Given the description of an element on the screen output the (x, y) to click on. 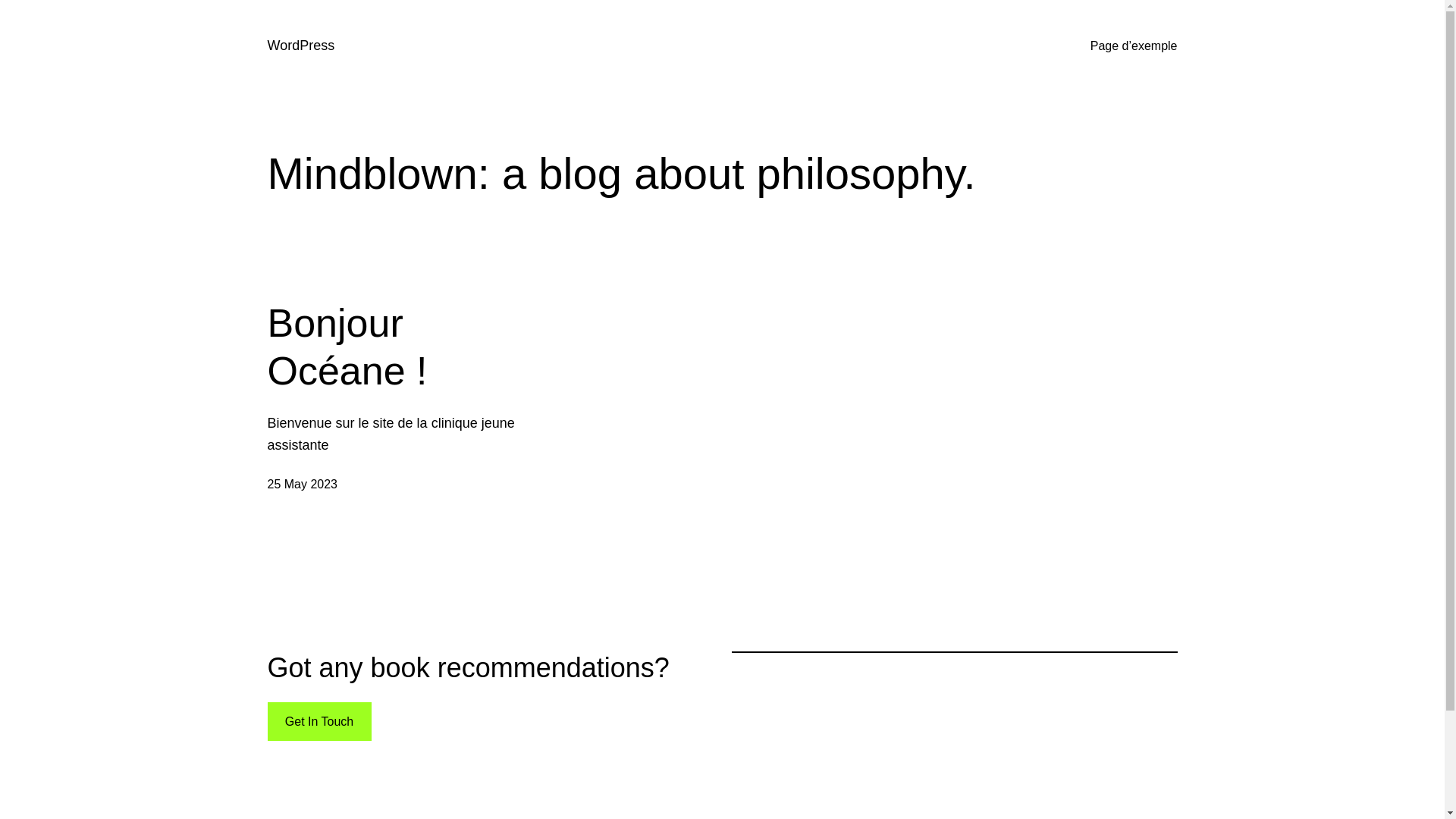
Get In Touch Element type: text (318, 721)
WordPress Element type: text (300, 45)
25 May 2023 Element type: text (301, 483)
